Given the description of an element on the screen output the (x, y) to click on. 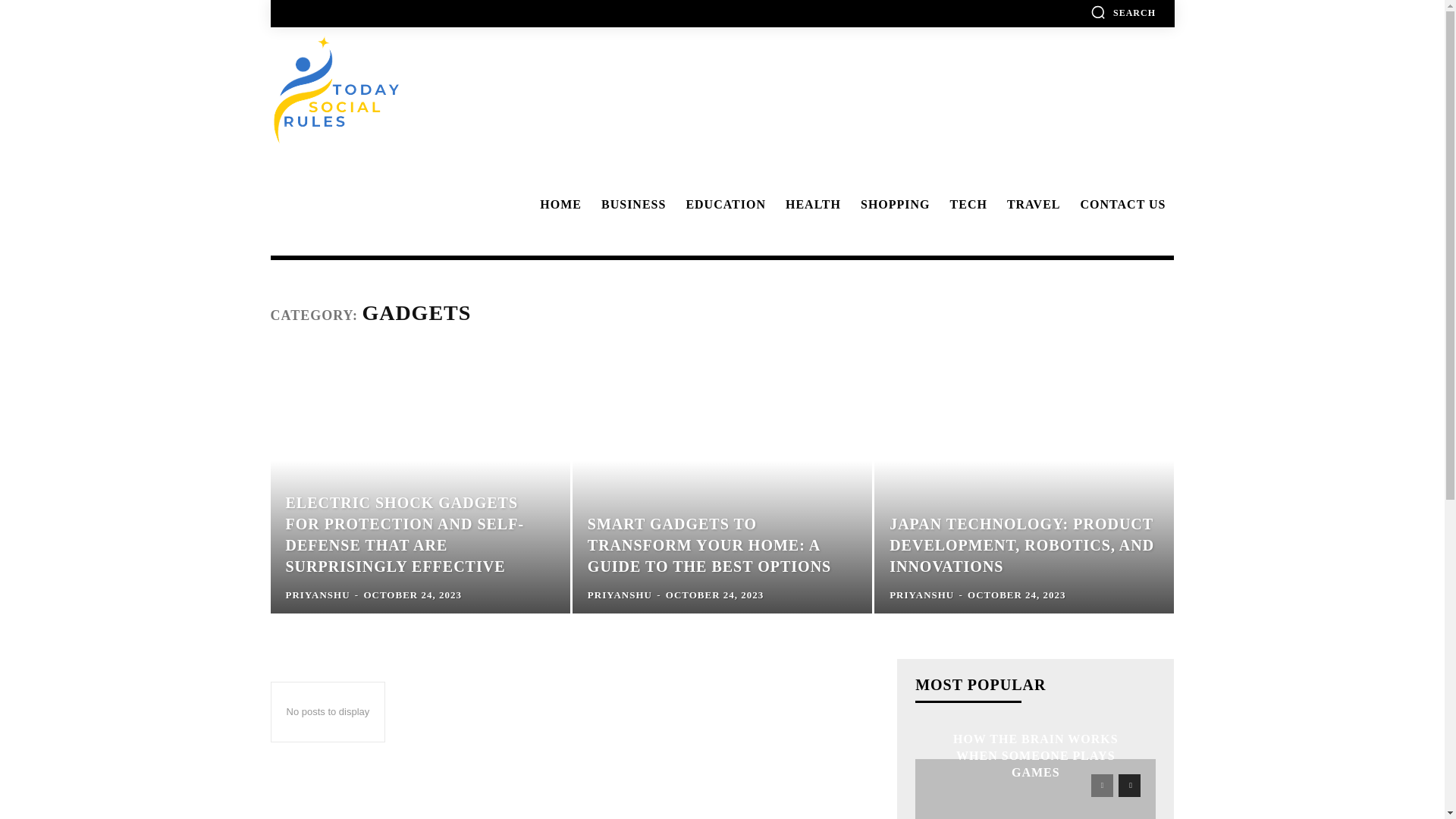
TECH (965, 204)
HEALTH (810, 204)
BUSINESS (630, 204)
SEARCH (1123, 11)
How the Brain Works When Someone Plays Games (1035, 789)
SHOPPING (892, 204)
How the Brain Works When Someone Plays Games (1035, 755)
PRIYANSHU (921, 594)
EDUCATION (722, 204)
